Given the description of an element on the screen output the (x, y) to click on. 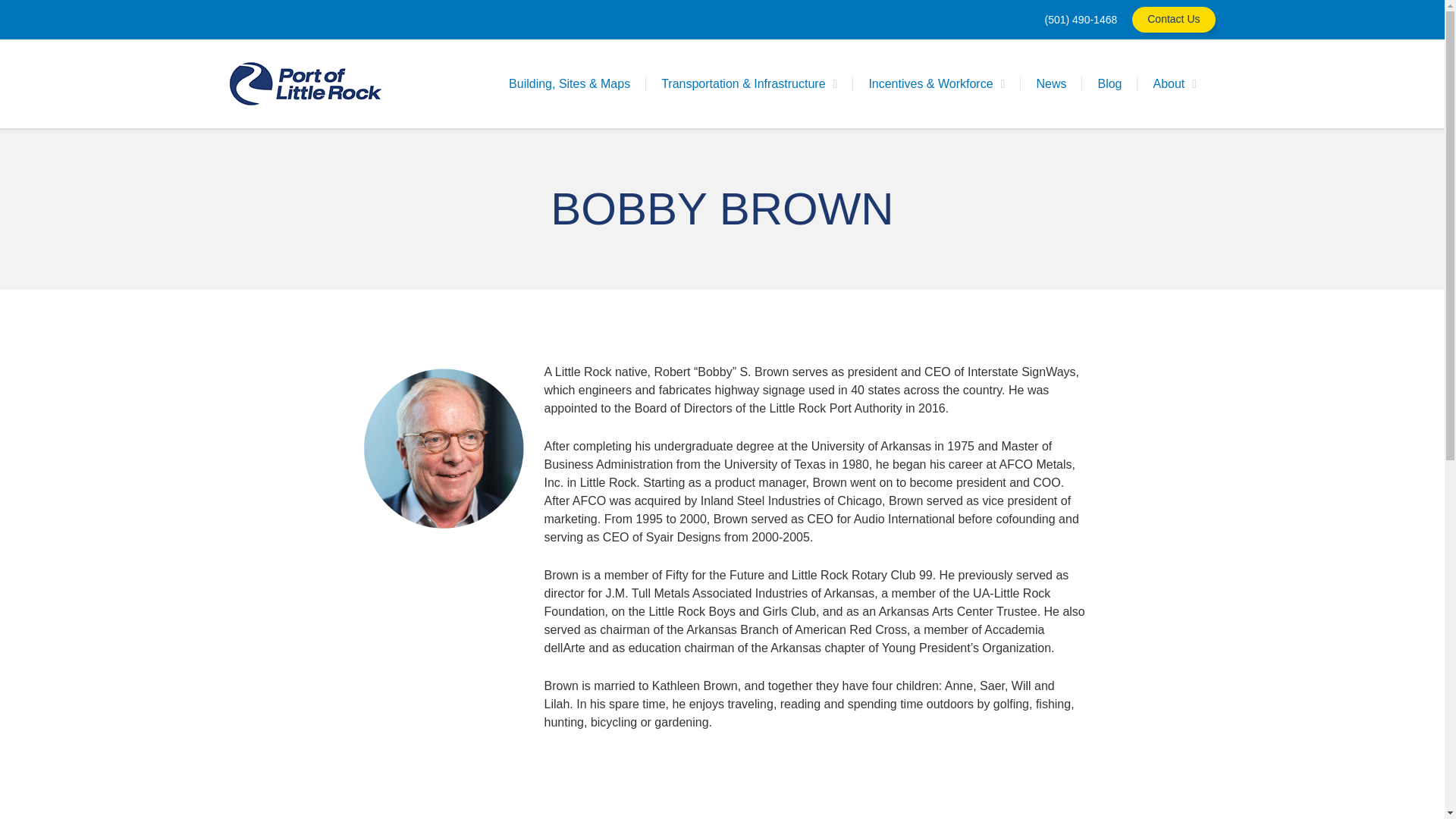
Contact Us (1173, 19)
Blog (1109, 83)
News (1050, 83)
About (1174, 83)
